Given the description of an element on the screen output the (x, y) to click on. 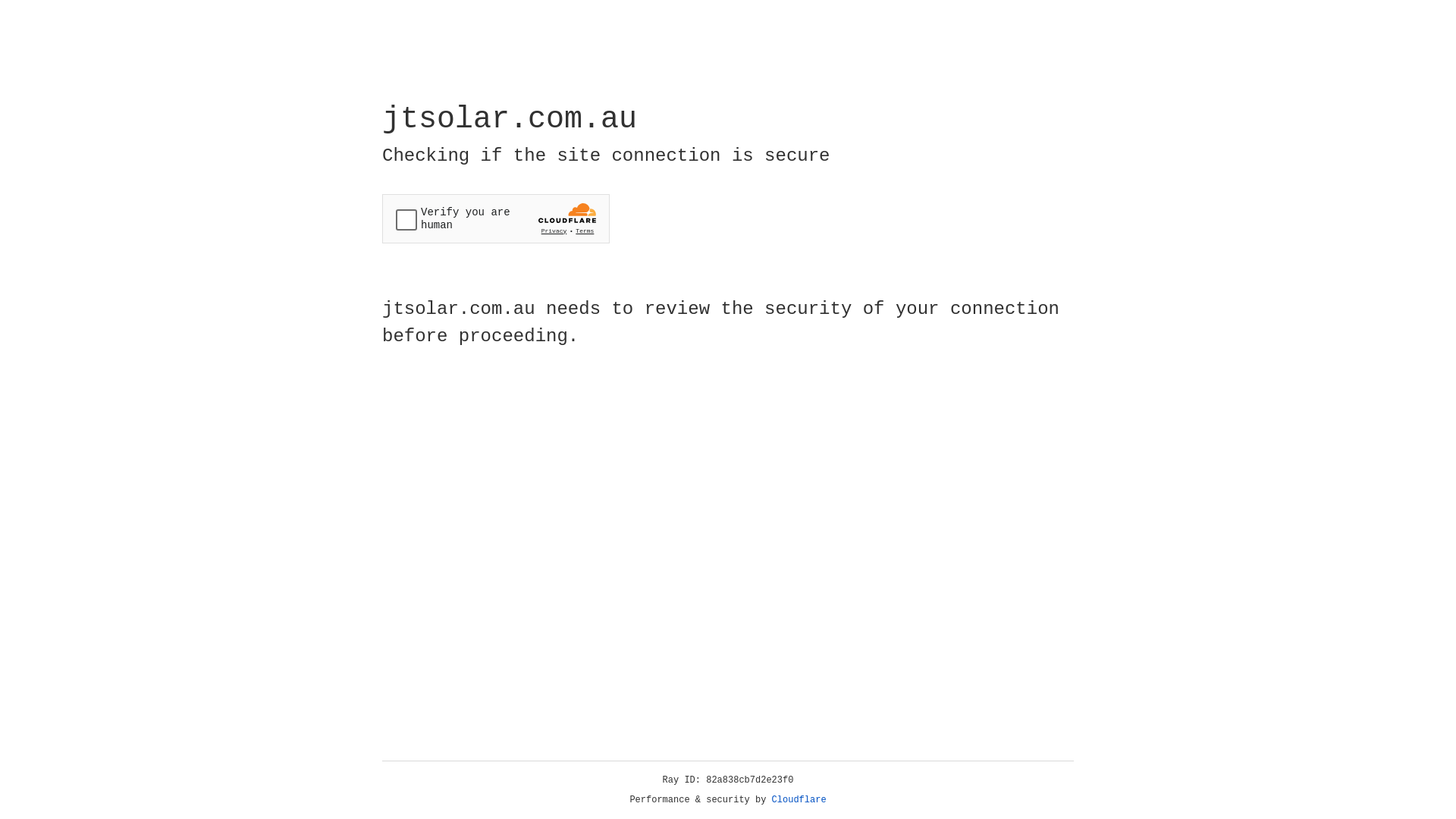
Cloudflare Element type: text (798, 799)
Widget containing a Cloudflare security challenge Element type: hover (495, 218)
